Given the description of an element on the screen output the (x, y) to click on. 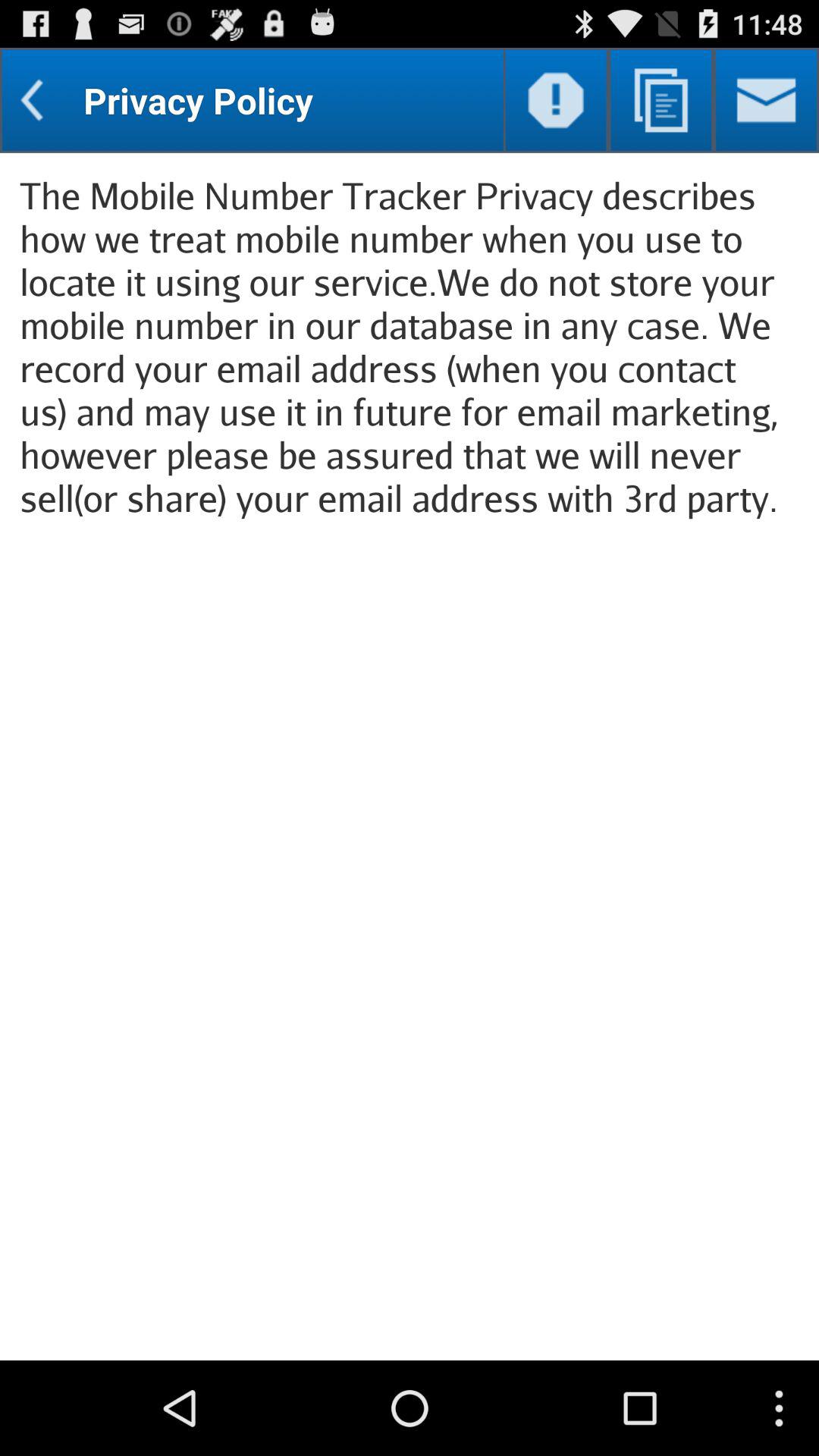
select icon above the mobile number item (555, 99)
